Given the description of an element on the screen output the (x, y) to click on. 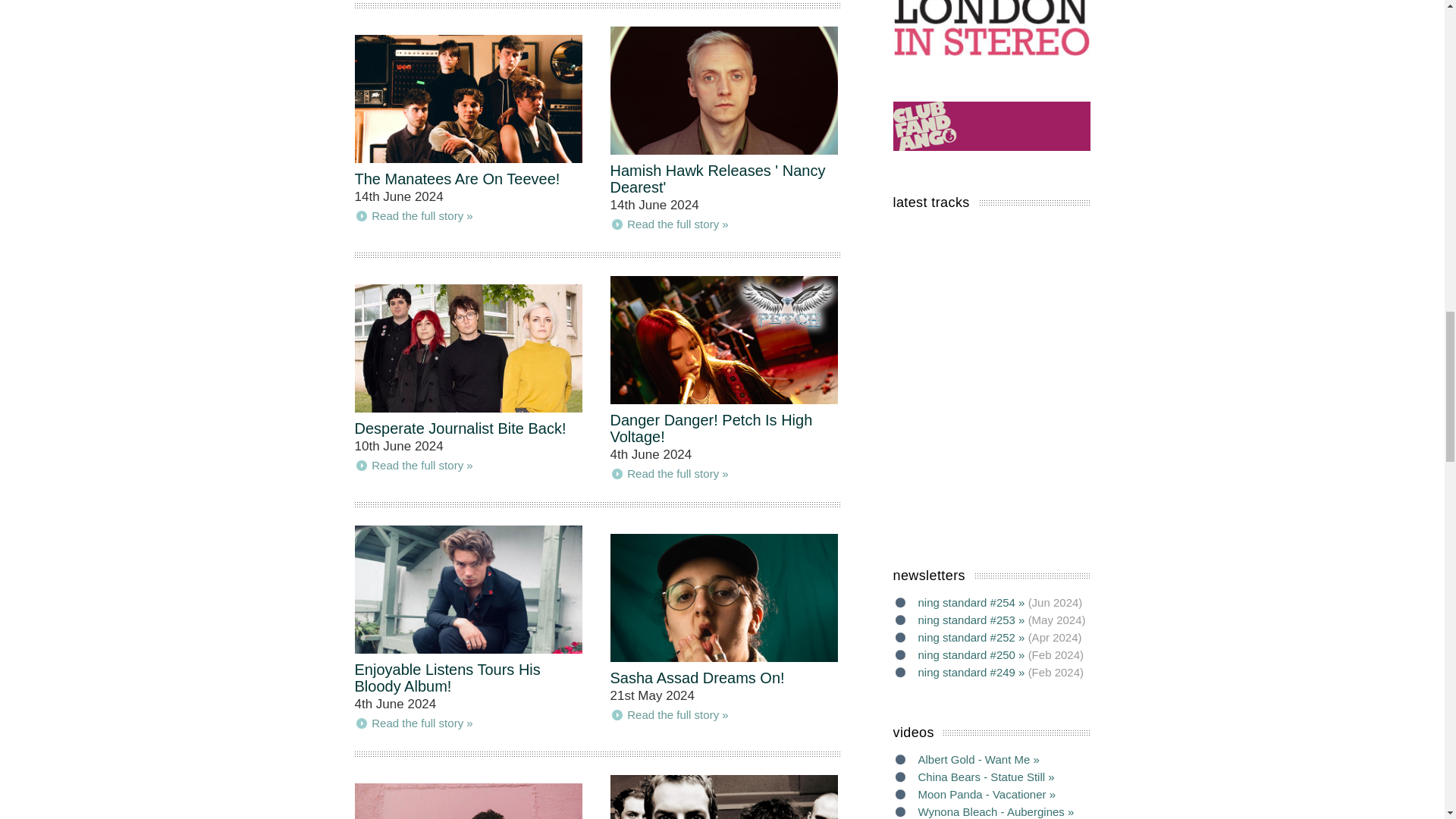
Danger Danger! Petch Is High Voltage! (711, 428)
The Manatees Are On Teevee! (457, 178)
Hamish Hawk Releases ' Nancy Dearest' (717, 178)
Desperate Journalist Bite Back! (460, 428)
